Given the description of an element on the screen output the (x, y) to click on. 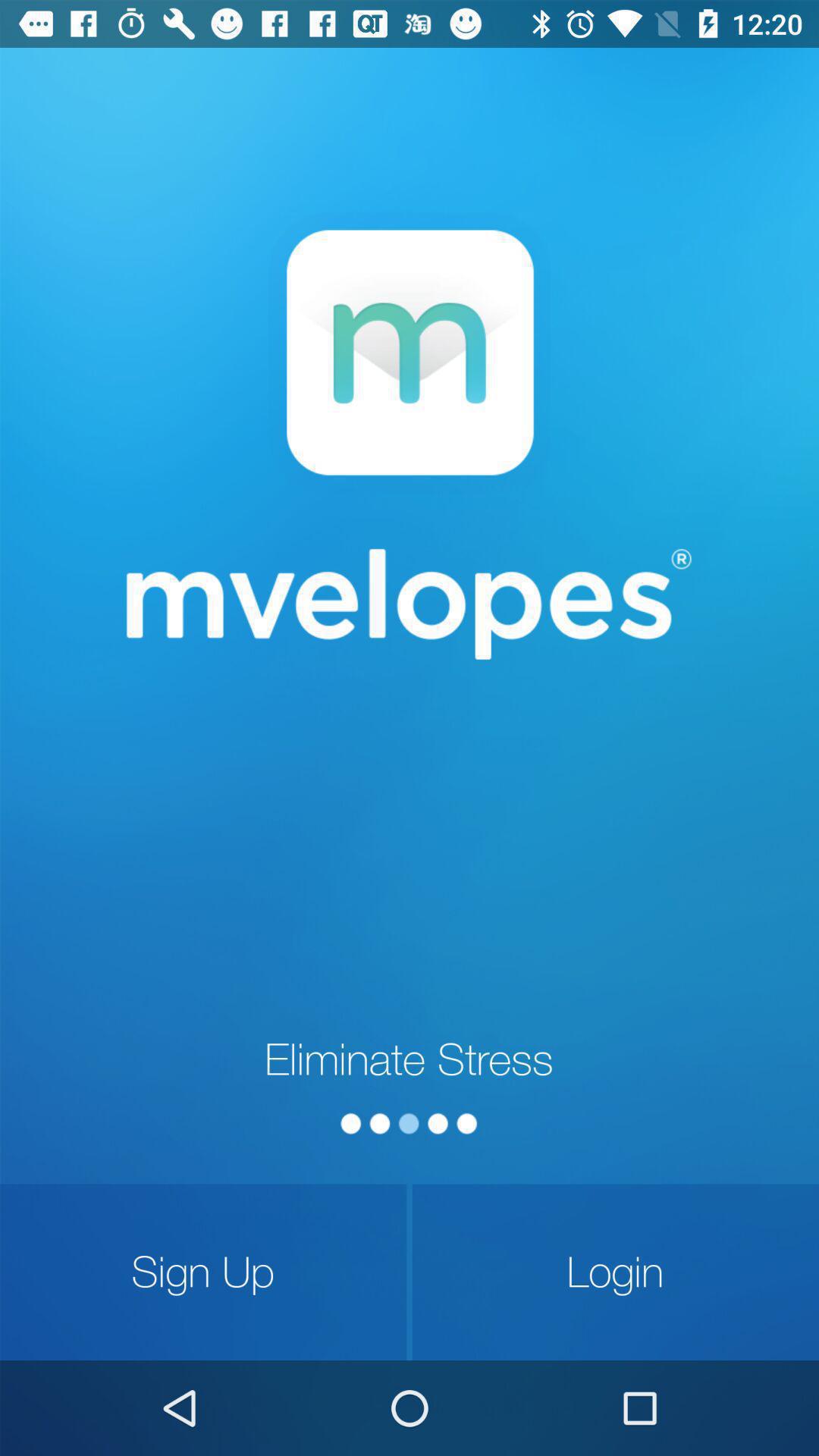
turn off the icon at the bottom right corner (615, 1272)
